Given the description of an element on the screen output the (x, y) to click on. 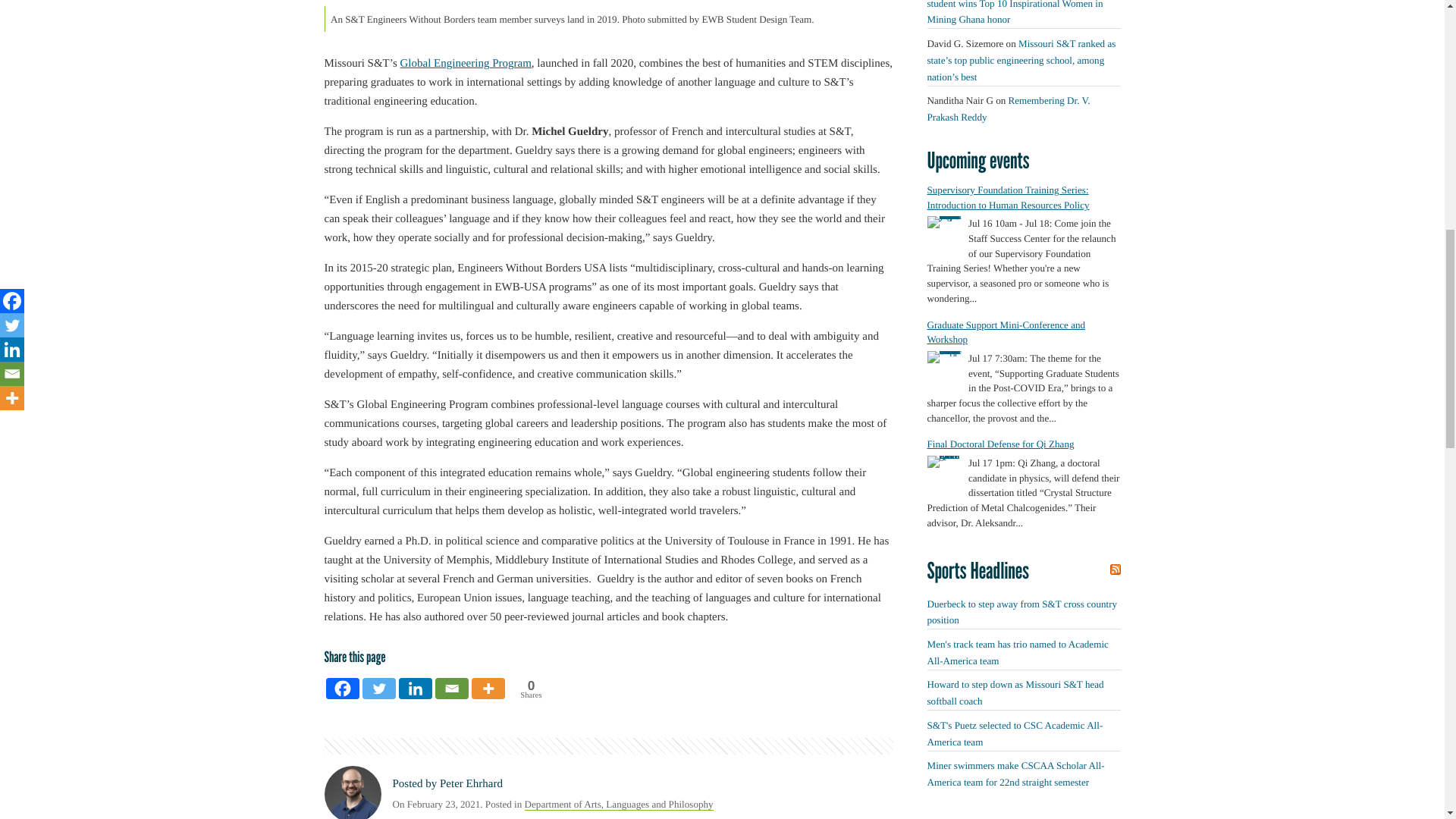
More (488, 688)
Total Shares (530, 690)
Email (451, 688)
Facebook (342, 688)
Posts by Peter Ehrhard (470, 784)
Twitter (379, 688)
Linkedin (415, 688)
